Given the description of an element on the screen output the (x, y) to click on. 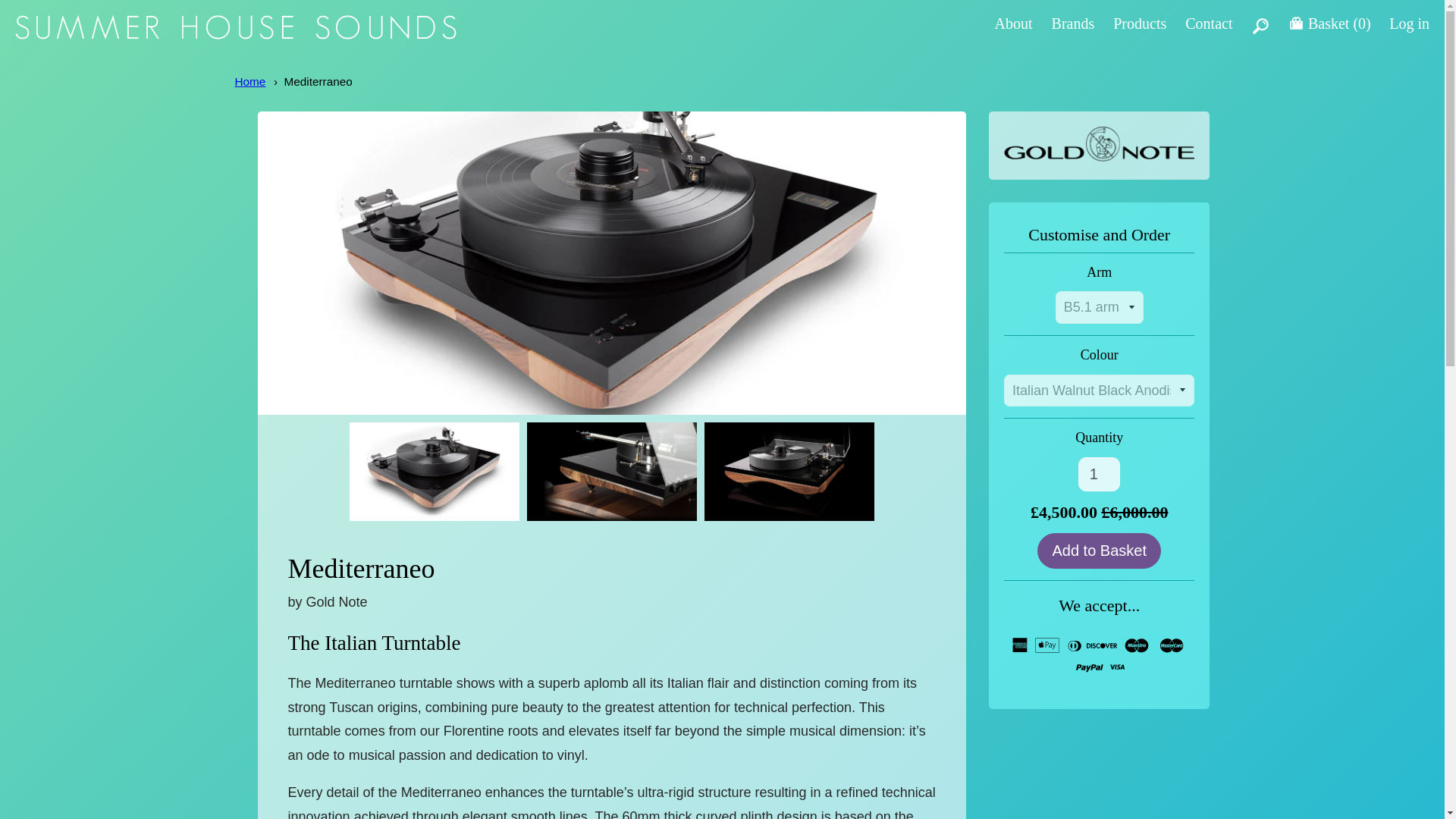
Mediterraneo (317, 81)
Log in (1409, 23)
1 (1098, 474)
Summer House Sounds (235, 34)
Products (1139, 23)
Contact (1208, 23)
Home (250, 81)
Brands (1072, 23)
Add to Basket (1098, 550)
About (1013, 23)
Home (250, 81)
